Given the description of an element on the screen output the (x, y) to click on. 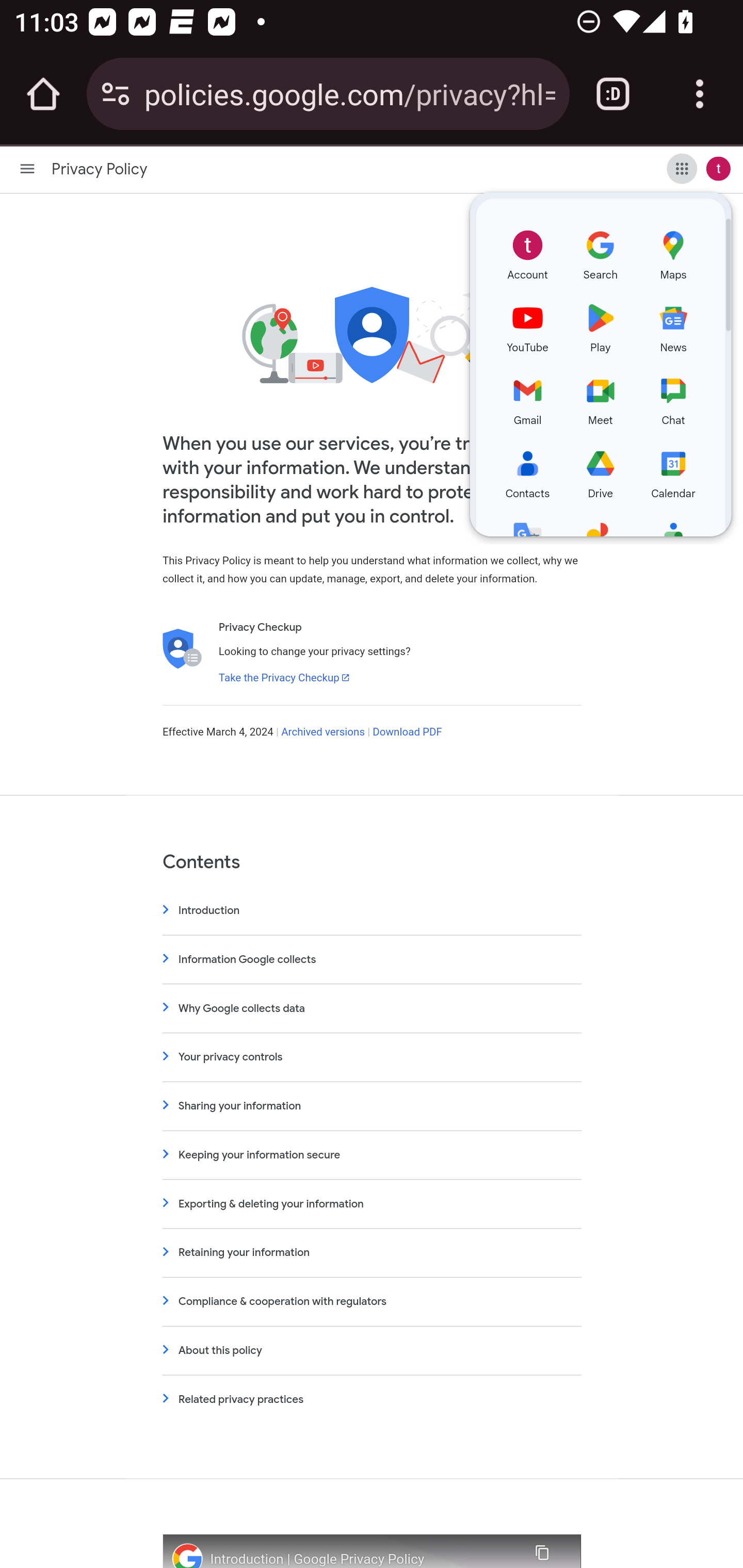
Open the home page (43, 93)
Connection is secure (115, 93)
Switch or close tabs (612, 93)
Customize and control Google Chrome (699, 93)
policies.google.com/privacy?hl=en (349, 92)
Main menu (27, 168)
Google apps (681, 168)
Account (527, 252)
Search (600, 252)
Maps (673, 252)
YouTube (527, 325)
Play (600, 325)
News (673, 325)
Gmail (527, 398)
Meet (600, 398)
Chat (673, 398)
Contacts (527, 471)
Drive (600, 471)
Calendar (673, 471)
Take the Privacy Checkup (284, 677)
Archived versions (322, 731)
Download PDF (407, 731)
Introduction (371, 909)
Information Google collects (371, 958)
Why Google collects data (371, 1008)
Your privacy controls (371, 1056)
Sharing your information (371, 1105)
Keeping your information secure (371, 1154)
Exporting & deleting your information (371, 1204)
Retaining your information (371, 1251)
Compliance & cooperation with regulators (371, 1301)
About this policy (371, 1350)
Related privacy practices (371, 1399)
Copy link (541, 1550)
Photo image of Google (186, 1555)
Introduction | Google Privacy Policy (360, 1558)
